Given the description of an element on the screen output the (x, y) to click on. 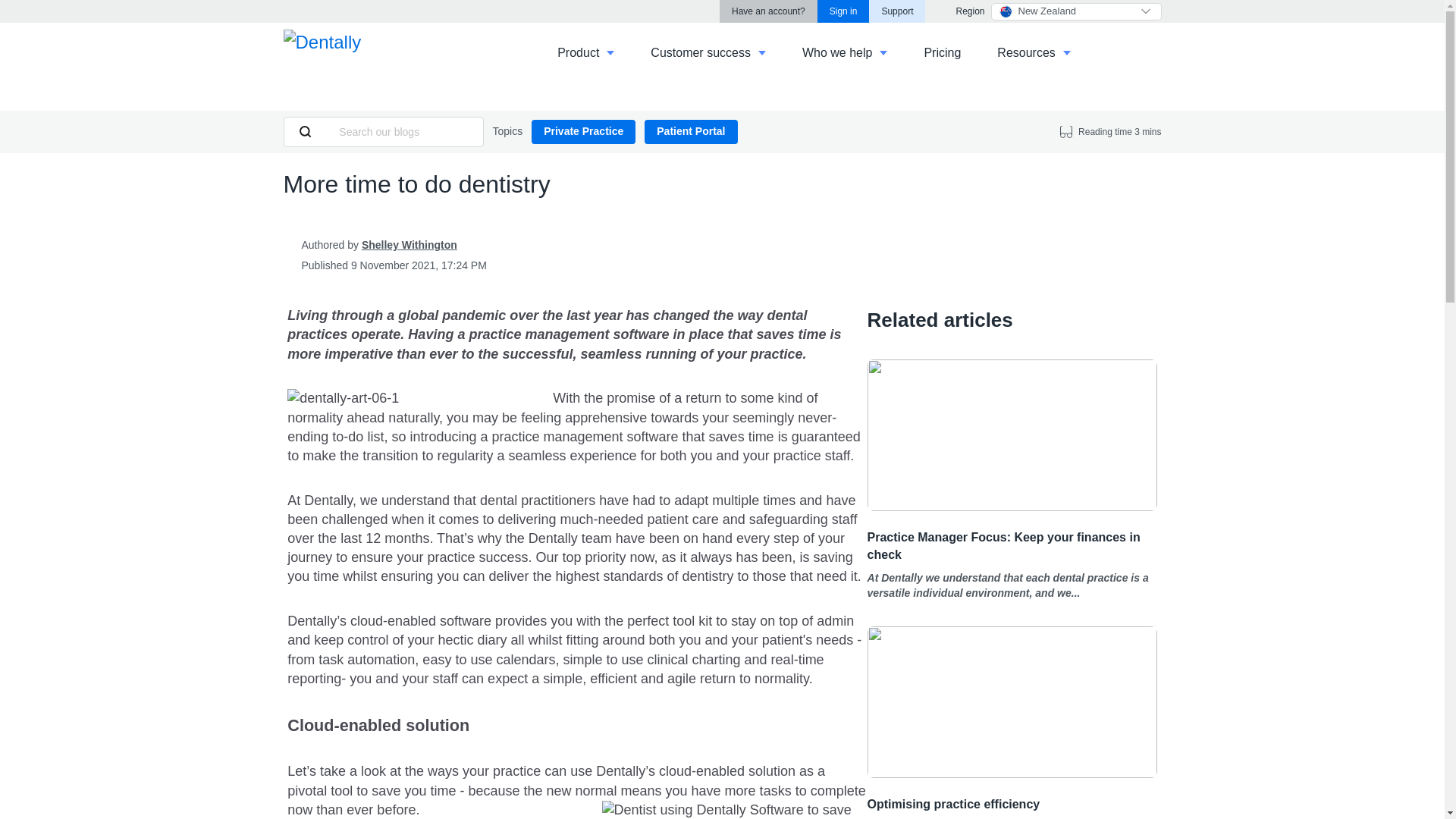
New Zealand (1075, 11)
Who we help (845, 47)
Customer success (707, 47)
Sign in (842, 11)
Support (896, 11)
Resources (1033, 47)
Product (585, 47)
